Given the description of an element on the screen output the (x, y) to click on. 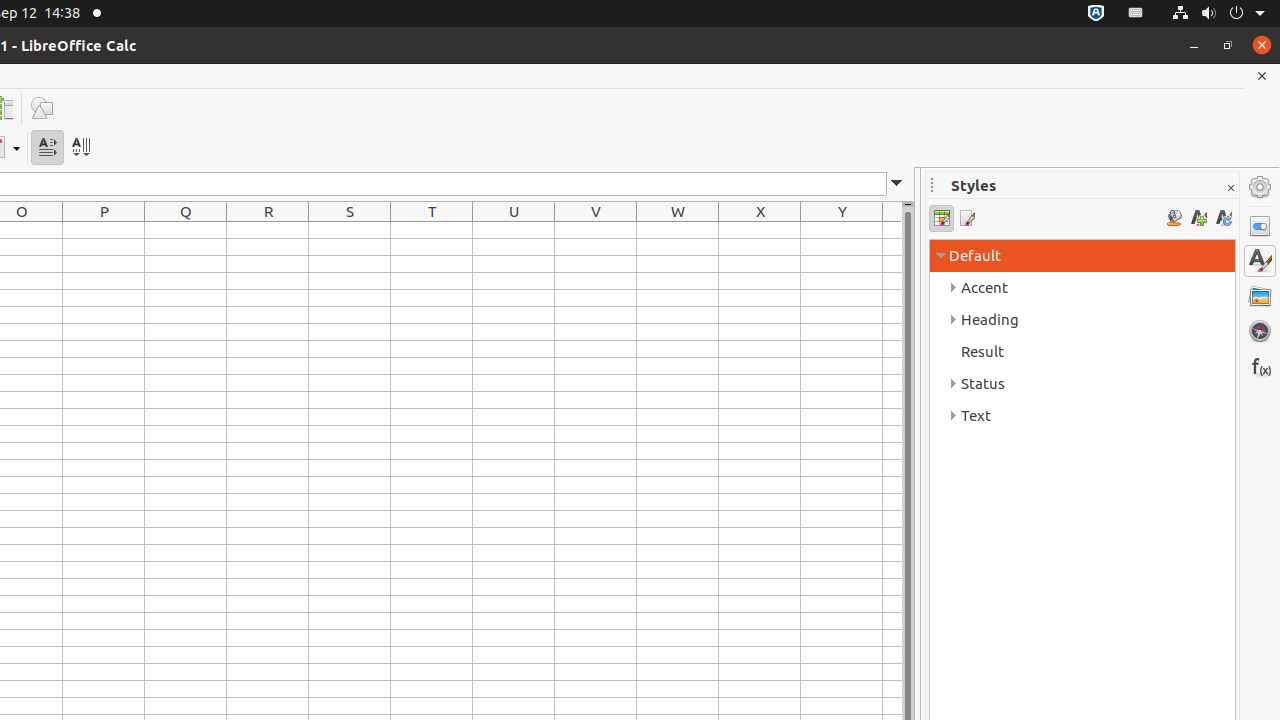
T1 Element type: table-cell (432, 230)
Y1 Element type: table-cell (842, 230)
Fill Format Mode Element type: push-button (1173, 218)
Draw Functions Element type: toggle-button (41, 108)
Text direction from left to right Element type: toggle-button (47, 147)
